Given the description of an element on the screen output the (x, y) to click on. 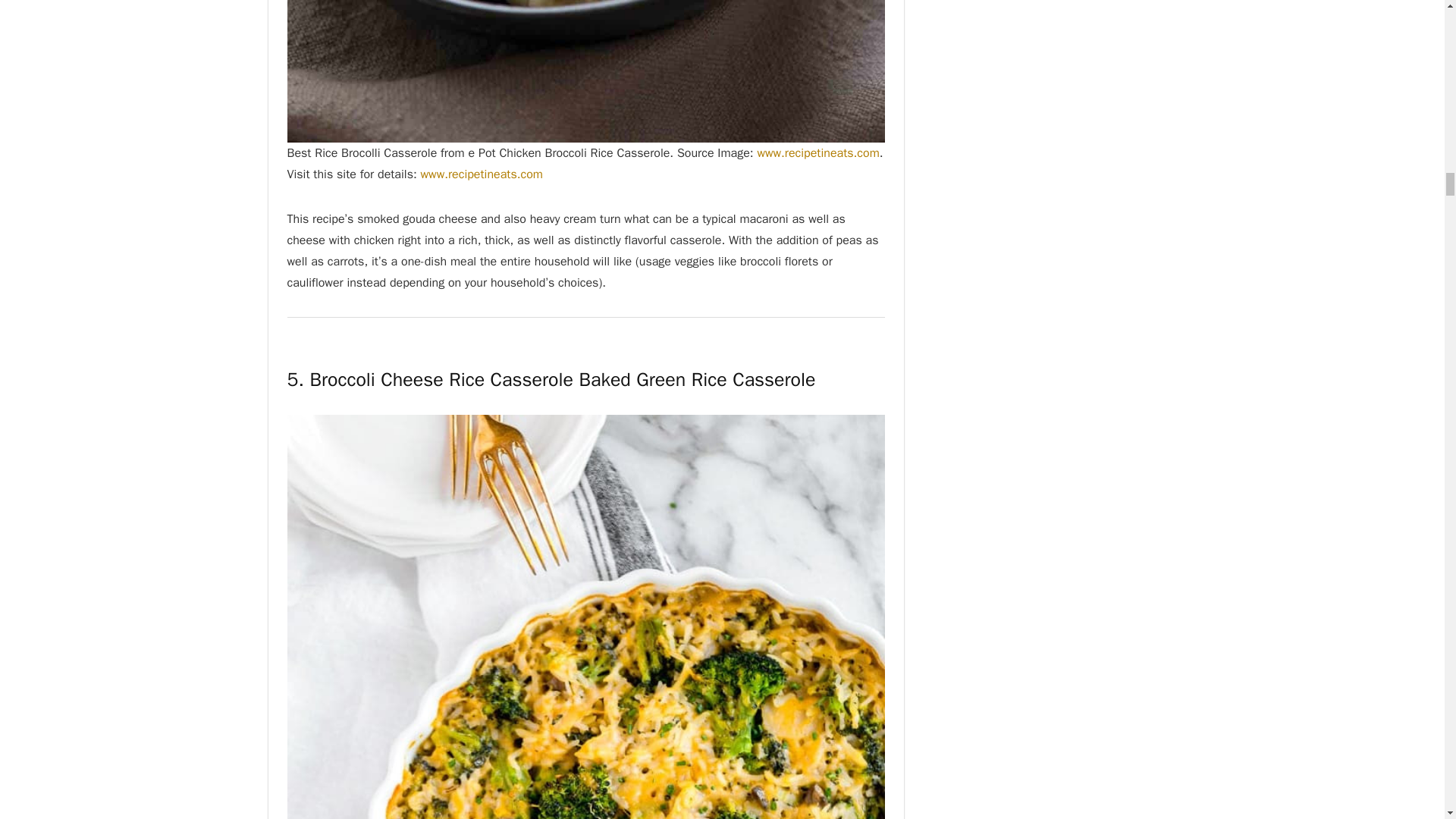
www.recipetineats.com (818, 152)
www.recipetineats.com (481, 174)
one pot chicken broccoli rice casserole (584, 71)
